Given the description of an element on the screen output the (x, y) to click on. 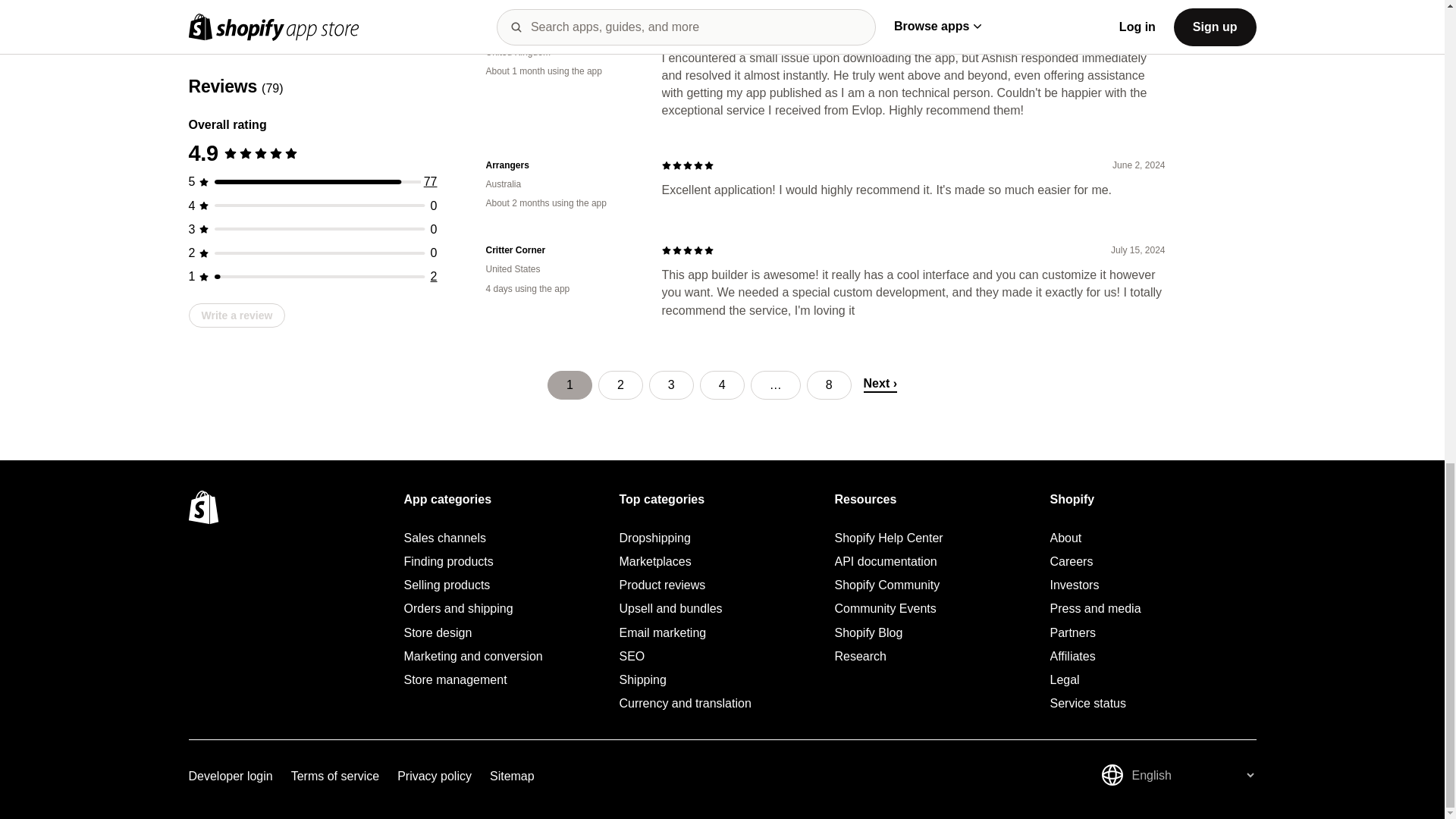
Critter Corner (560, 250)
Arrangers  (560, 164)
Printers  (560, 32)
